Given the description of an element on the screen output the (x, y) to click on. 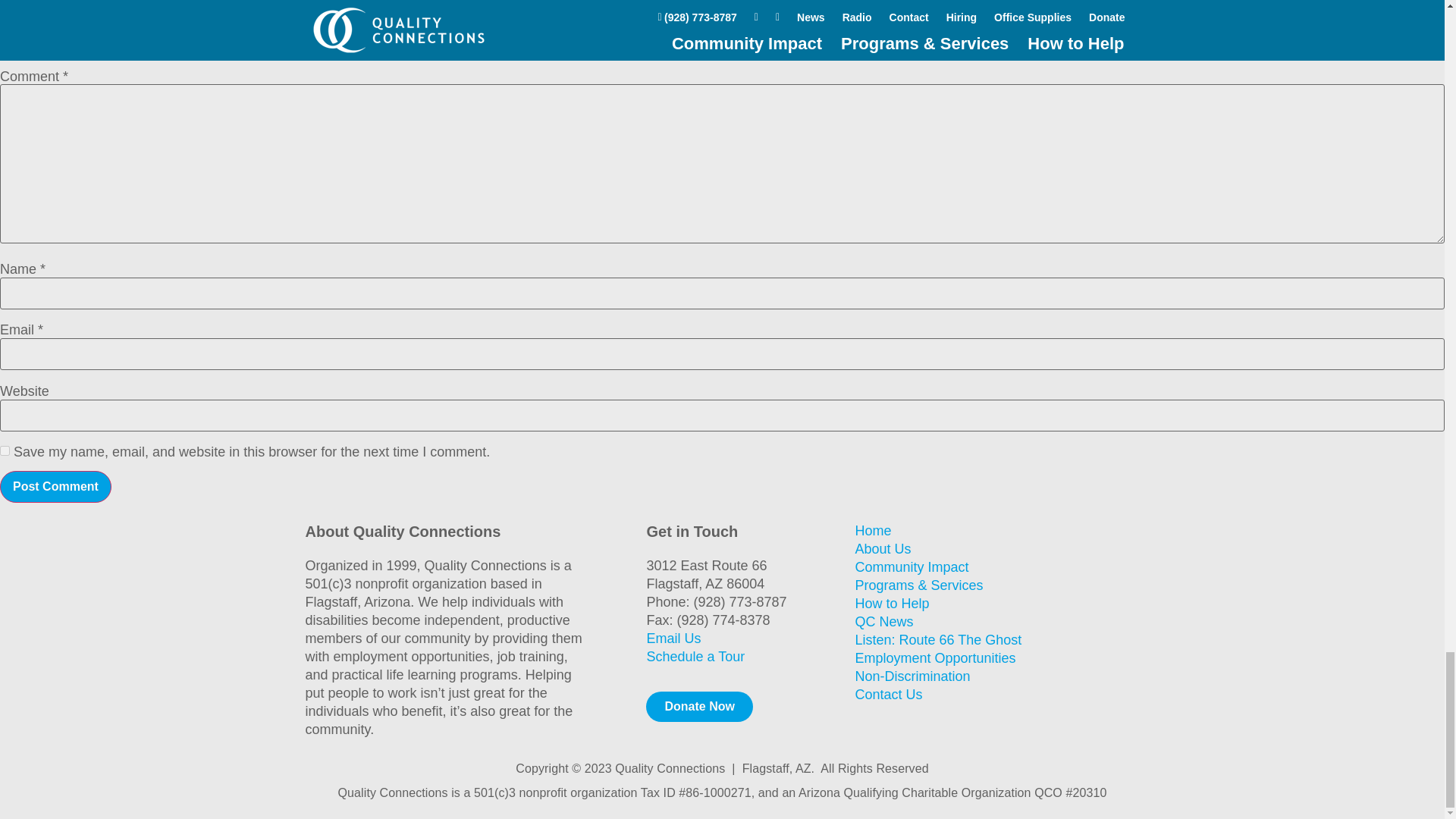
yes (5, 450)
Post Comment (56, 486)
